Given the description of an element on the screen output the (x, y) to click on. 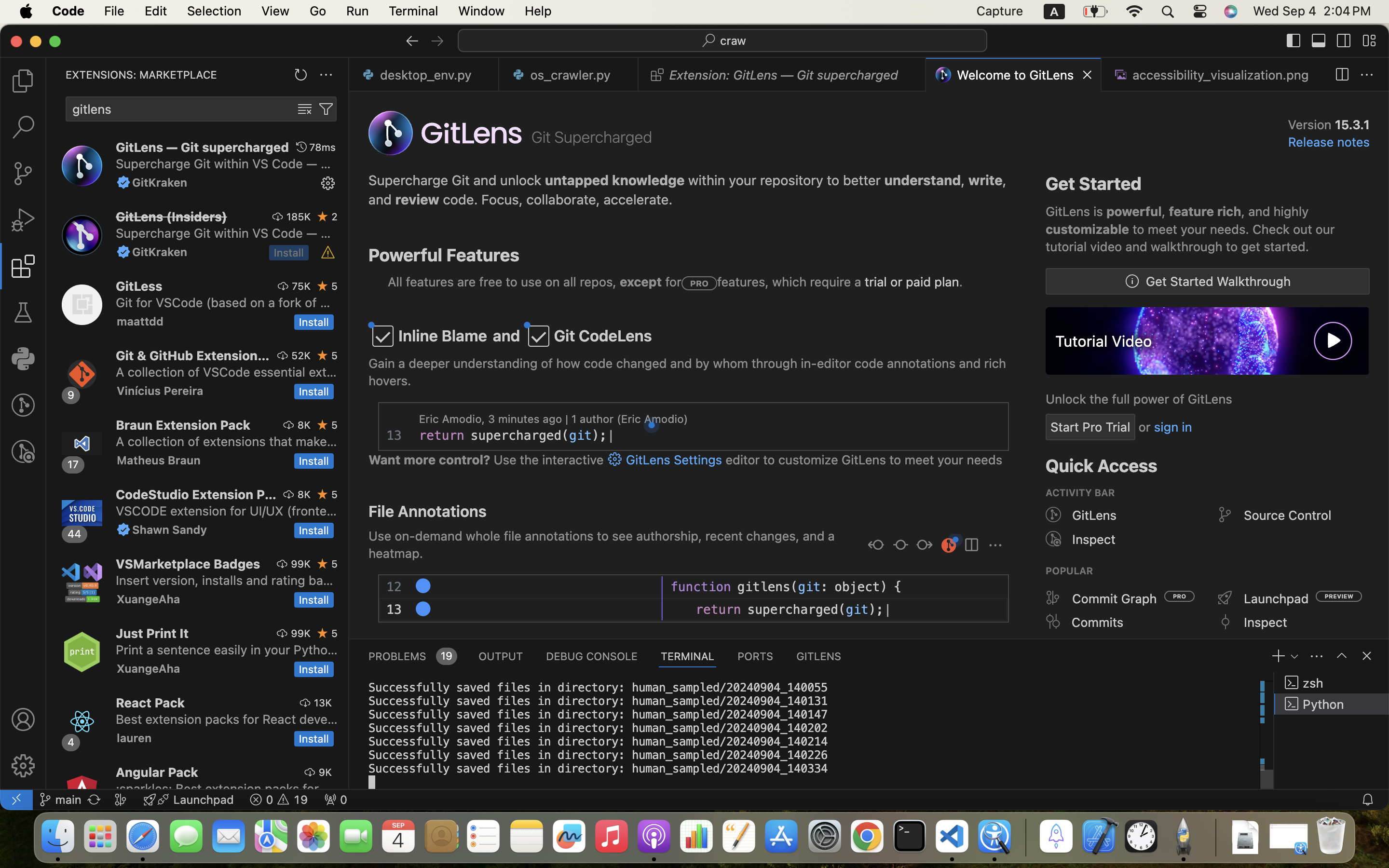
1 Welcome to GitLens  Element type: AXRadioButton (1014, 74)
0 desktop_env.py   Element type: AXRadioButton (424, 74)
19  0  Element type: AXButton (278, 799)
A collection of VSCode essential extensions to work with Git and GitHub. Element type: AXStaticText (225, 371)
 Element type: AXCheckBox (1318, 40)
